Given the description of an element on the screen output the (x, y) to click on. 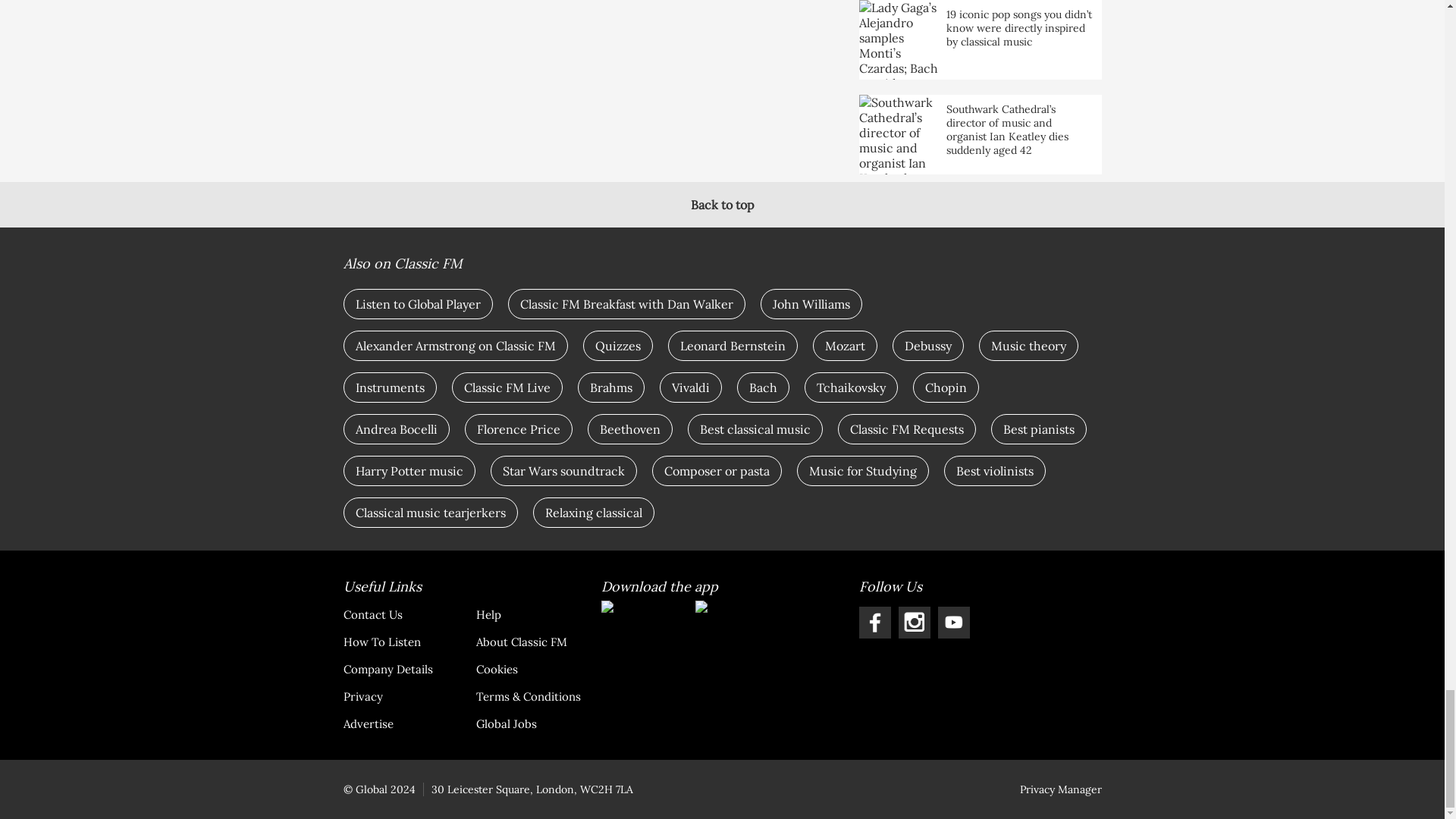
Follow Classic FM on Instagram (914, 622)
Follow Classic FM on Youtube (953, 622)
Back to top (722, 204)
Follow Classic FM on Facebook (874, 622)
